Given the description of an element on the screen output the (x, y) to click on. 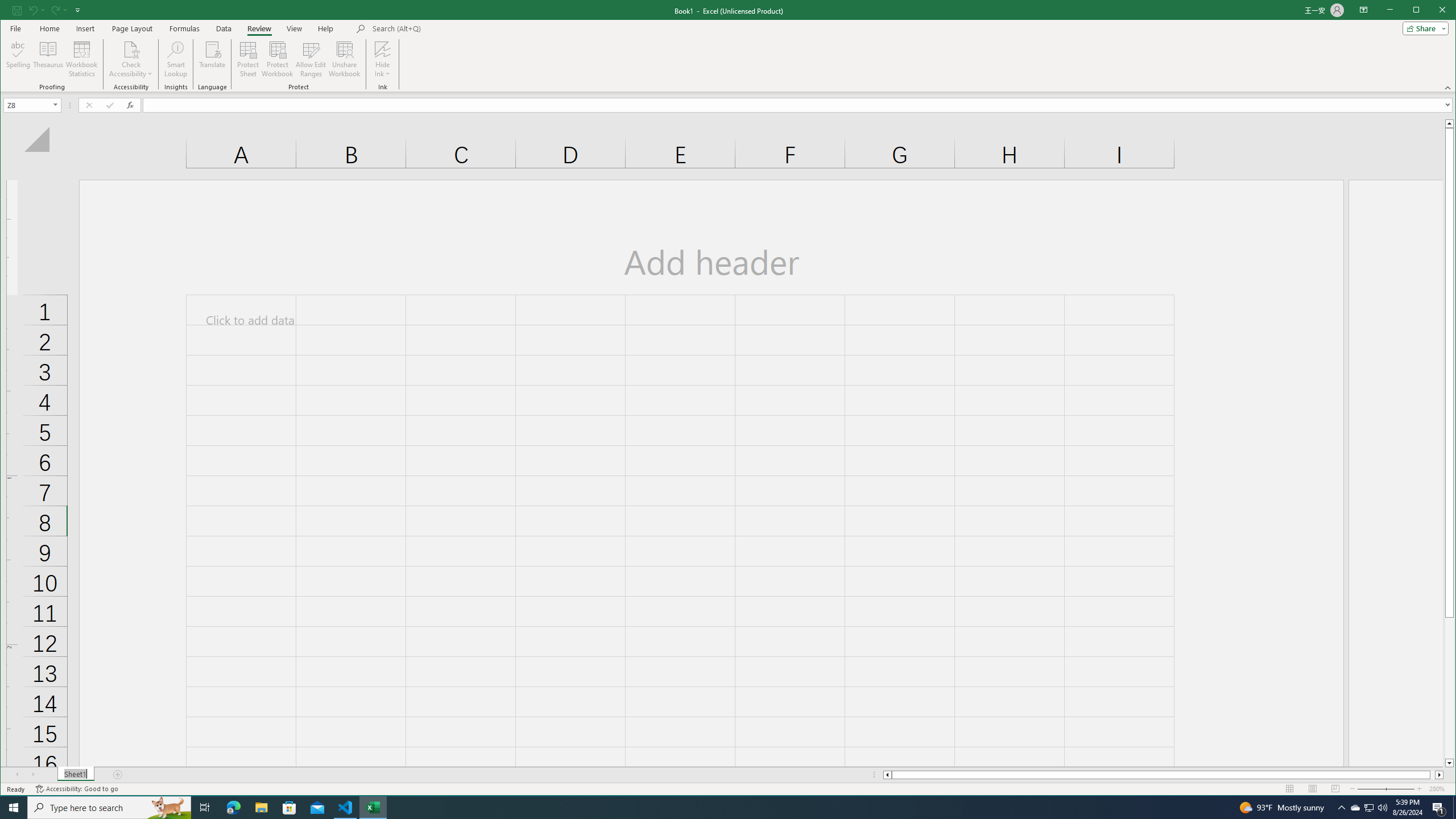
Action Center, 1 new notification (1439, 807)
Scroll Left (18, 774)
Share (1422, 27)
Page down (1449, 687)
Microsoft Store (289, 807)
Show desktop (1454, 807)
Check Accessibility (130, 59)
Zoom In (1419, 788)
Allow Edit Ranges (310, 59)
Ribbon Display Options (1364, 9)
Sheet Tab (75, 774)
Spelling... (18, 59)
Unshare Workbook (344, 59)
